Given the description of an element on the screen output the (x, y) to click on. 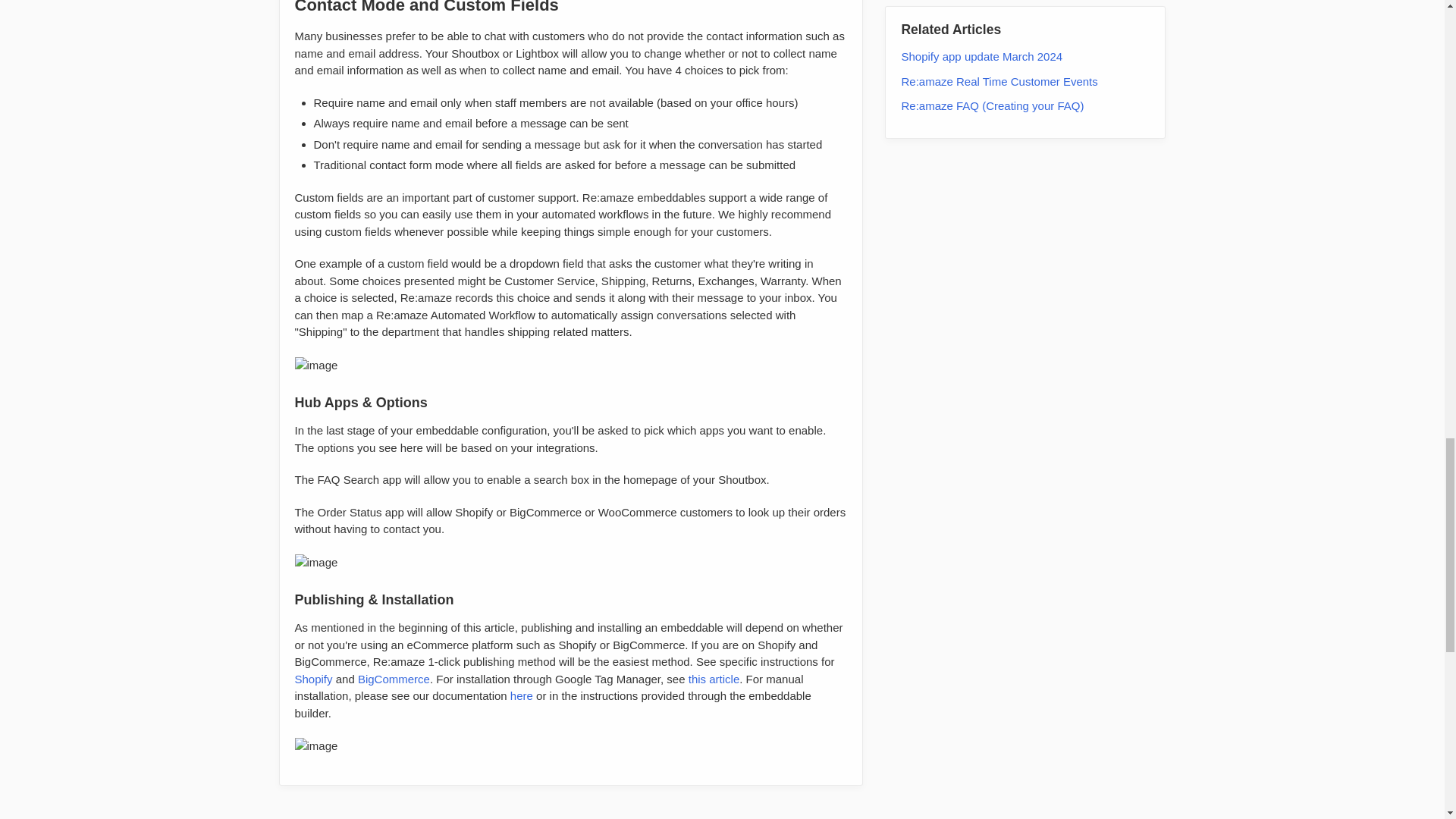
Shopify (312, 678)
this article (713, 678)
BigCommerce (393, 678)
here (521, 695)
